Given the description of an element on the screen output the (x, y) to click on. 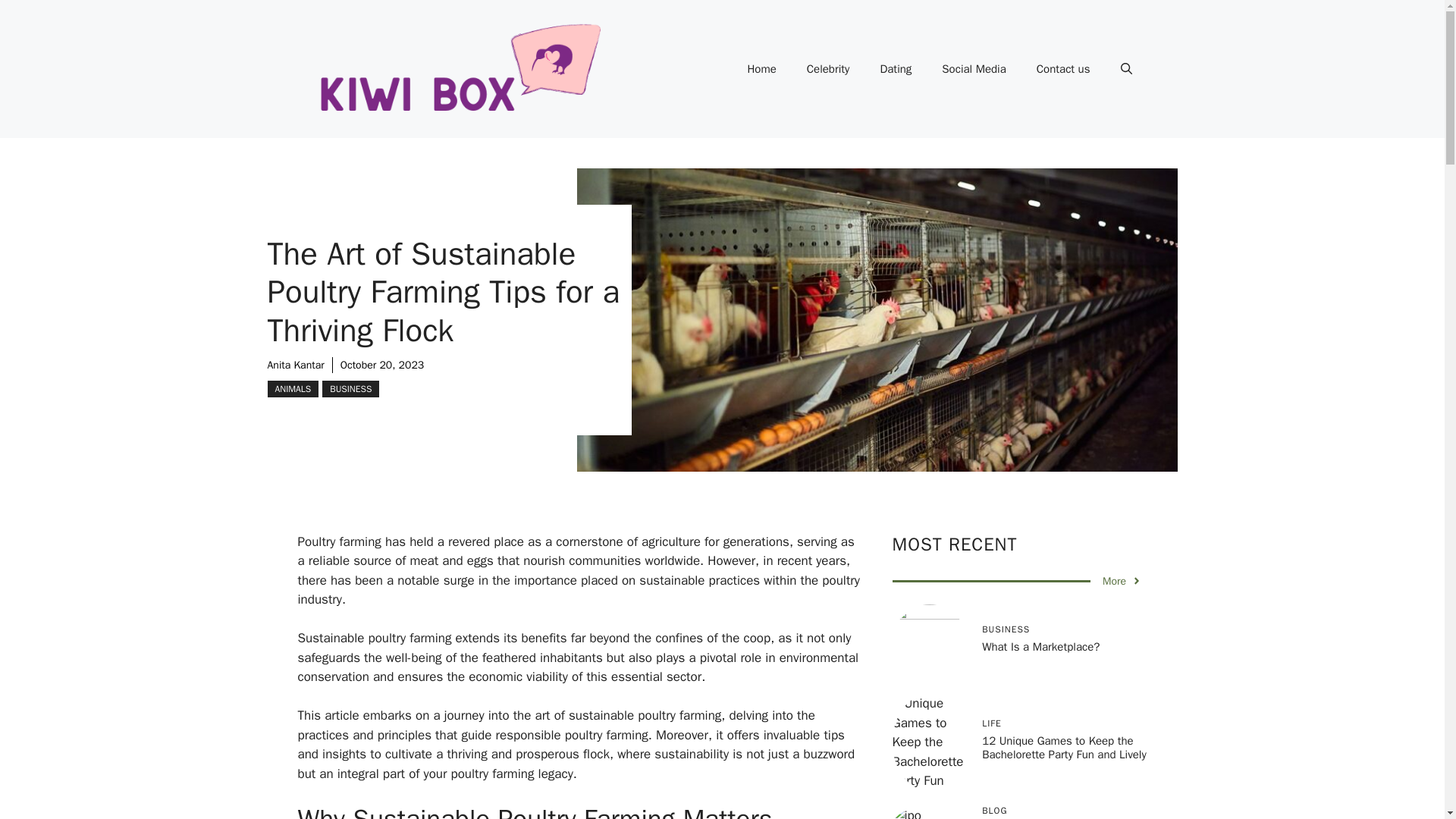
Celebrity (828, 68)
Contact us (1063, 68)
Social Media (973, 68)
ANIMALS (292, 388)
More (1121, 580)
What Is a Marketplace? (1040, 646)
Dating (895, 68)
Anita Kantar (294, 364)
Home (761, 68)
BUSINESS (349, 388)
